Given the description of an element on the screen output the (x, y) to click on. 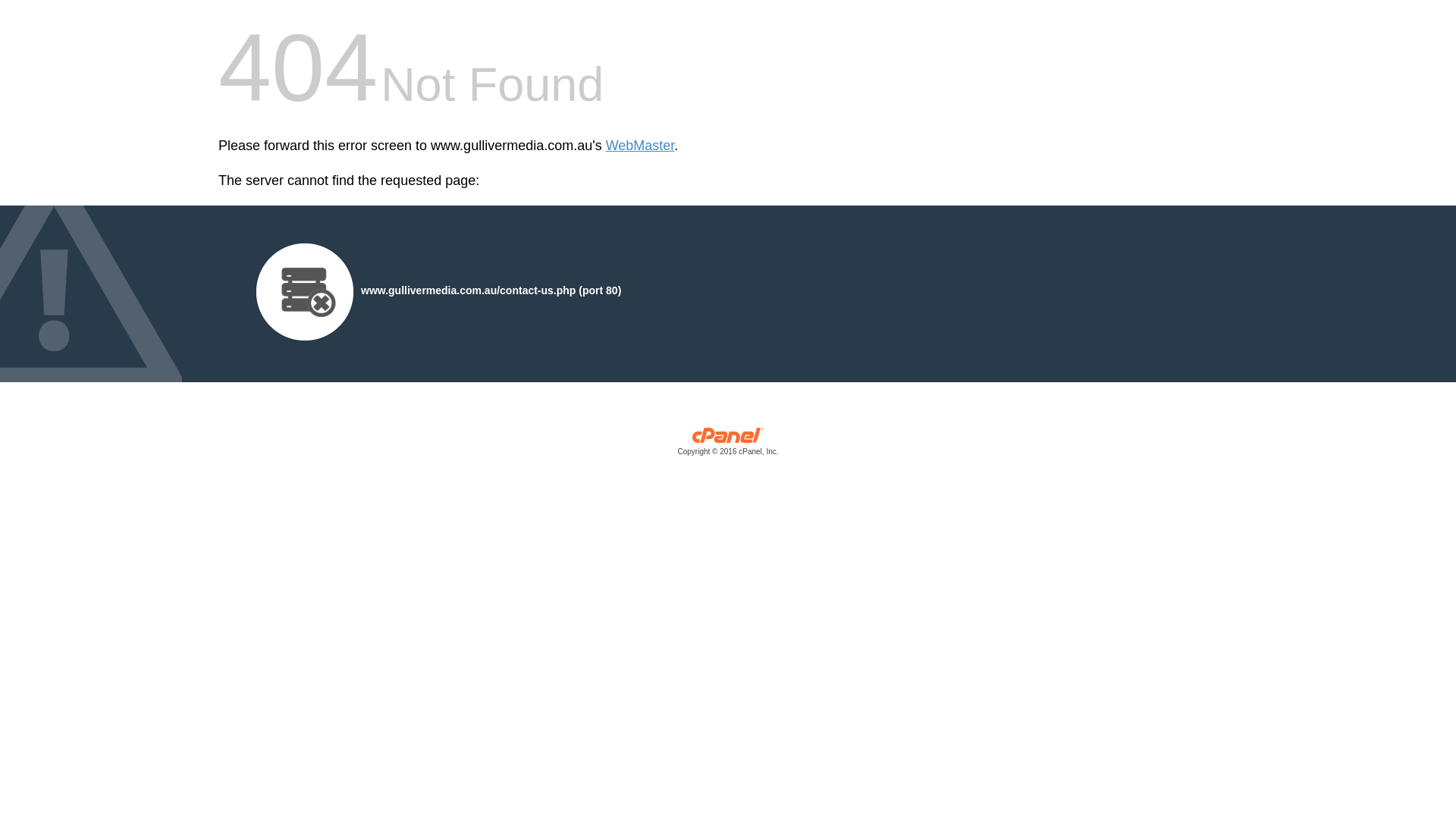
WebMaster Element type: text (639, 145)
